Given the description of an element on the screen output the (x, y) to click on. 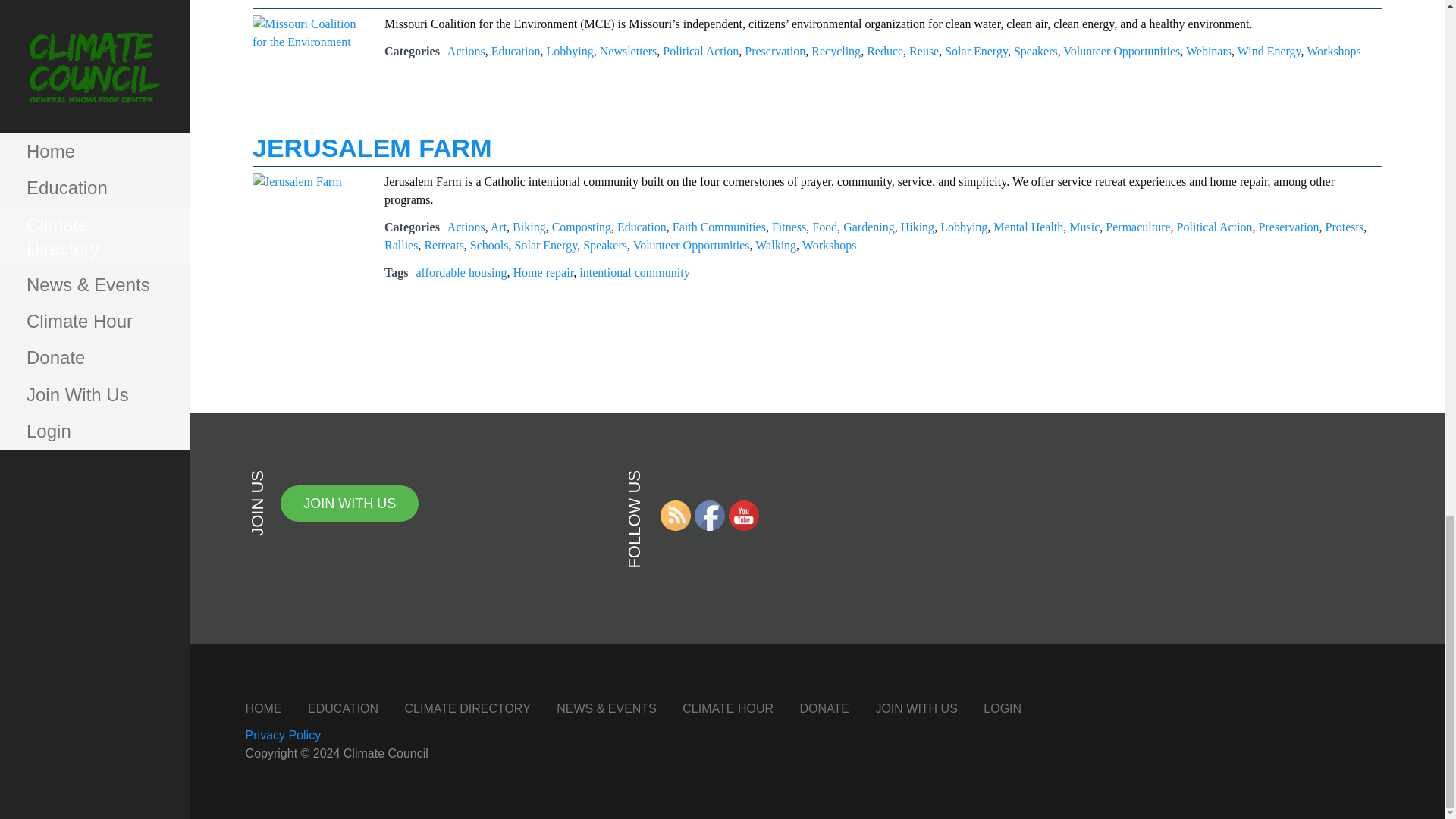
RSS (675, 515)
Jerusalem Farm (308, 212)
Missouri Coalition for the Environment (308, 39)
